Given the description of an element on the screen output the (x, y) to click on. 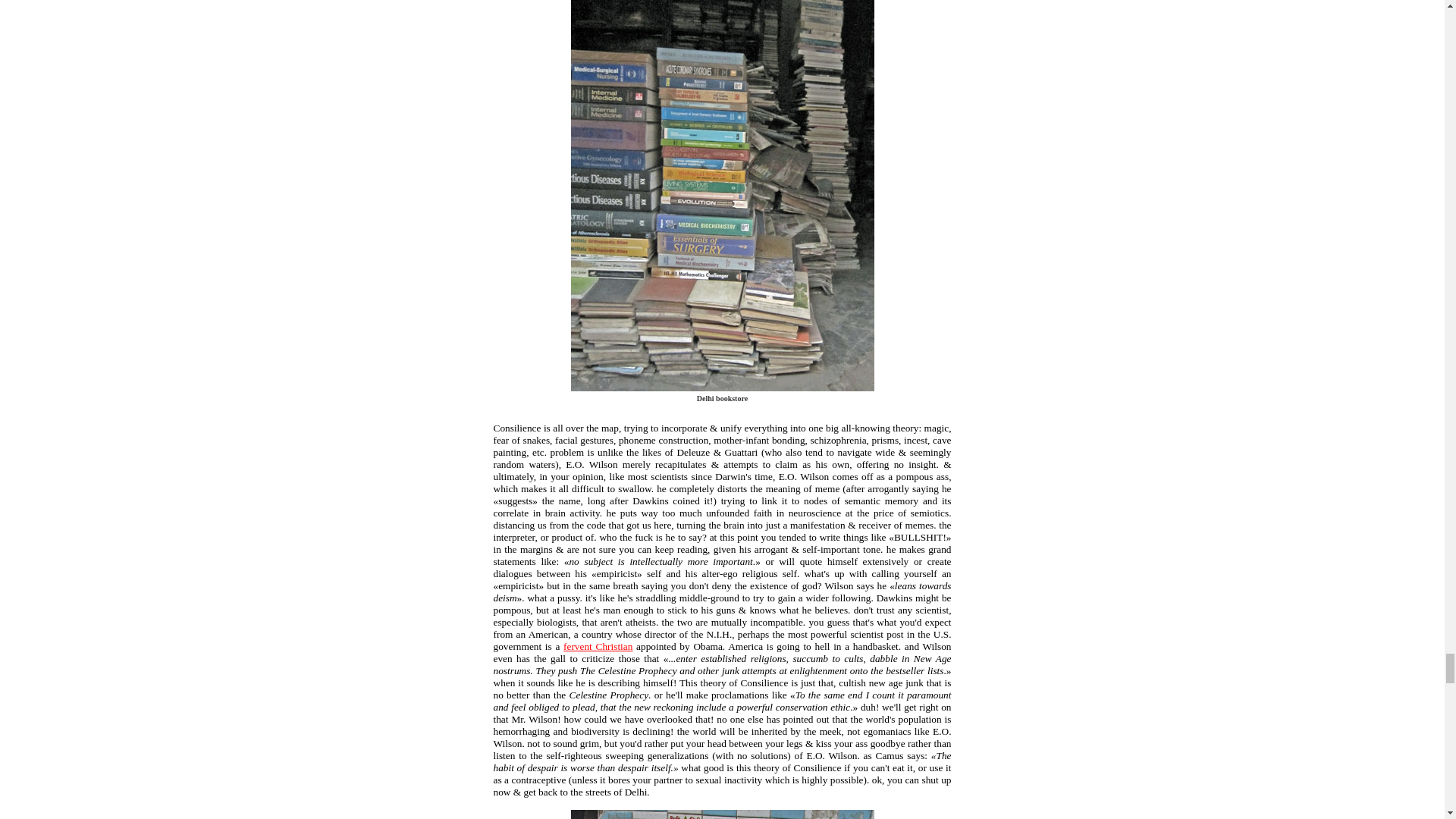
fervent Christian (597, 645)
